Given the description of an element on the screen output the (x, y) to click on. 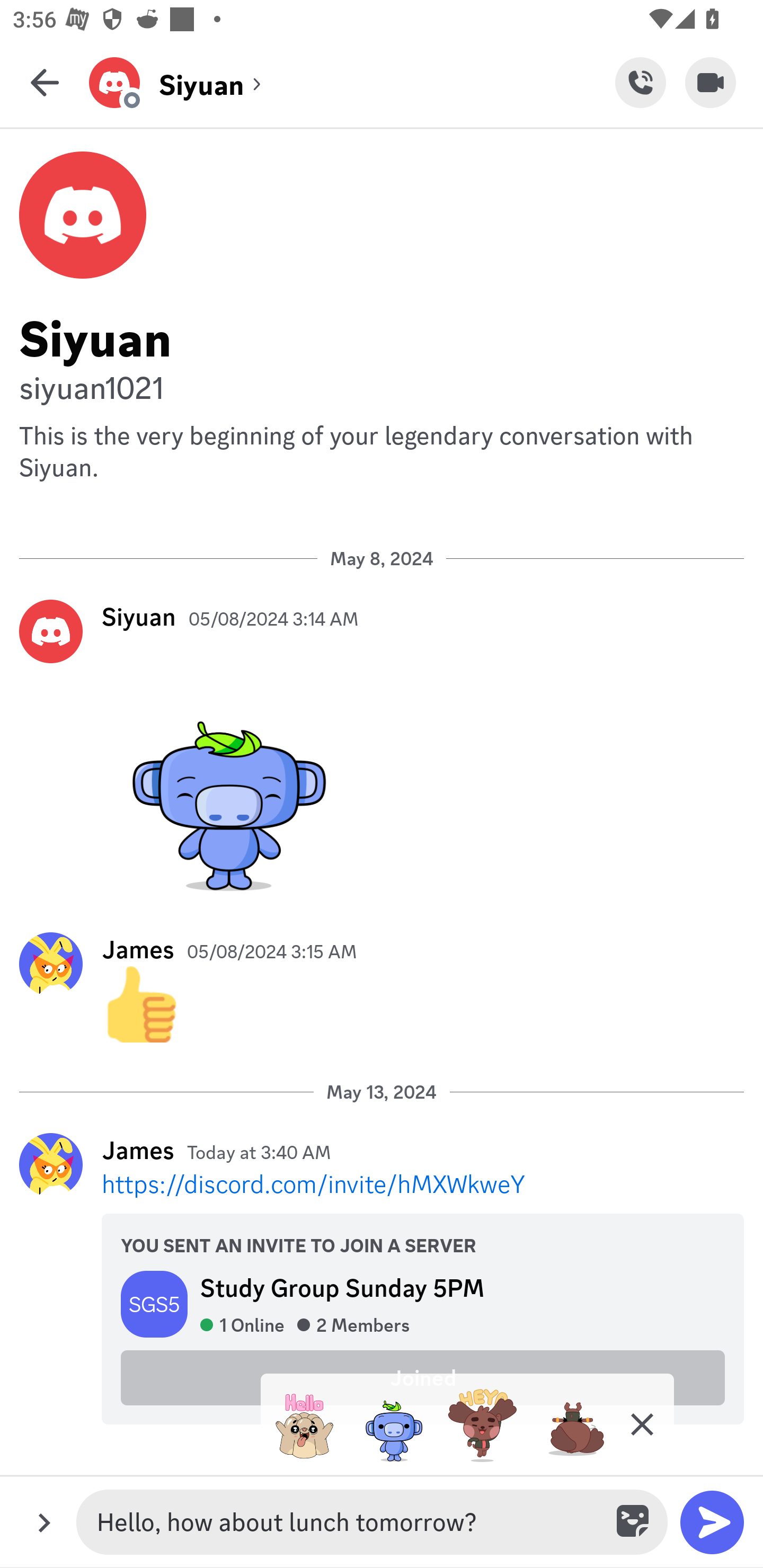
Siyuan (channel) Siyuan Siyuan (channel) (351, 82)
Back (44, 82)
Start Voice Call (640, 82)
Start Video Call (710, 82)
Siyuan (381, 335)
siyuan1021 (381, 386)
Siyuan 05/08/2024 3:14 AM (381, 749)
Siyuan (138, 615)
James (137, 948)
James (137, 1149)
Joined (422, 1377)
More (44, 1522)
Send (711, 1522)
Hello, how about lunch tomorrow? (347, 1522)
Toggle emoji keyboard (634, 1522)
